Given the description of an element on the screen output the (x, y) to click on. 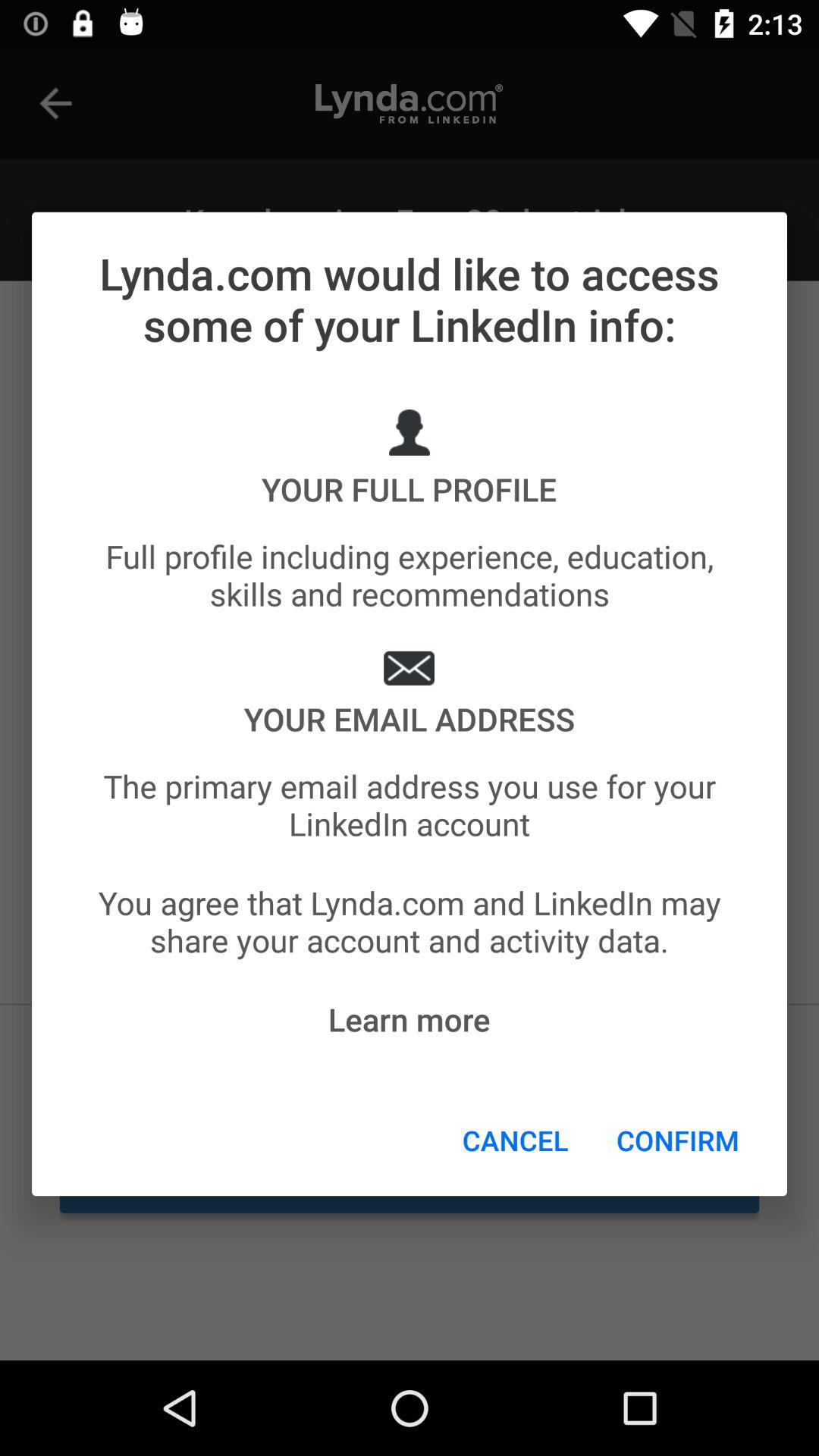
open item at the bottom right corner (677, 1140)
